Given the description of an element on the screen output the (x, y) to click on. 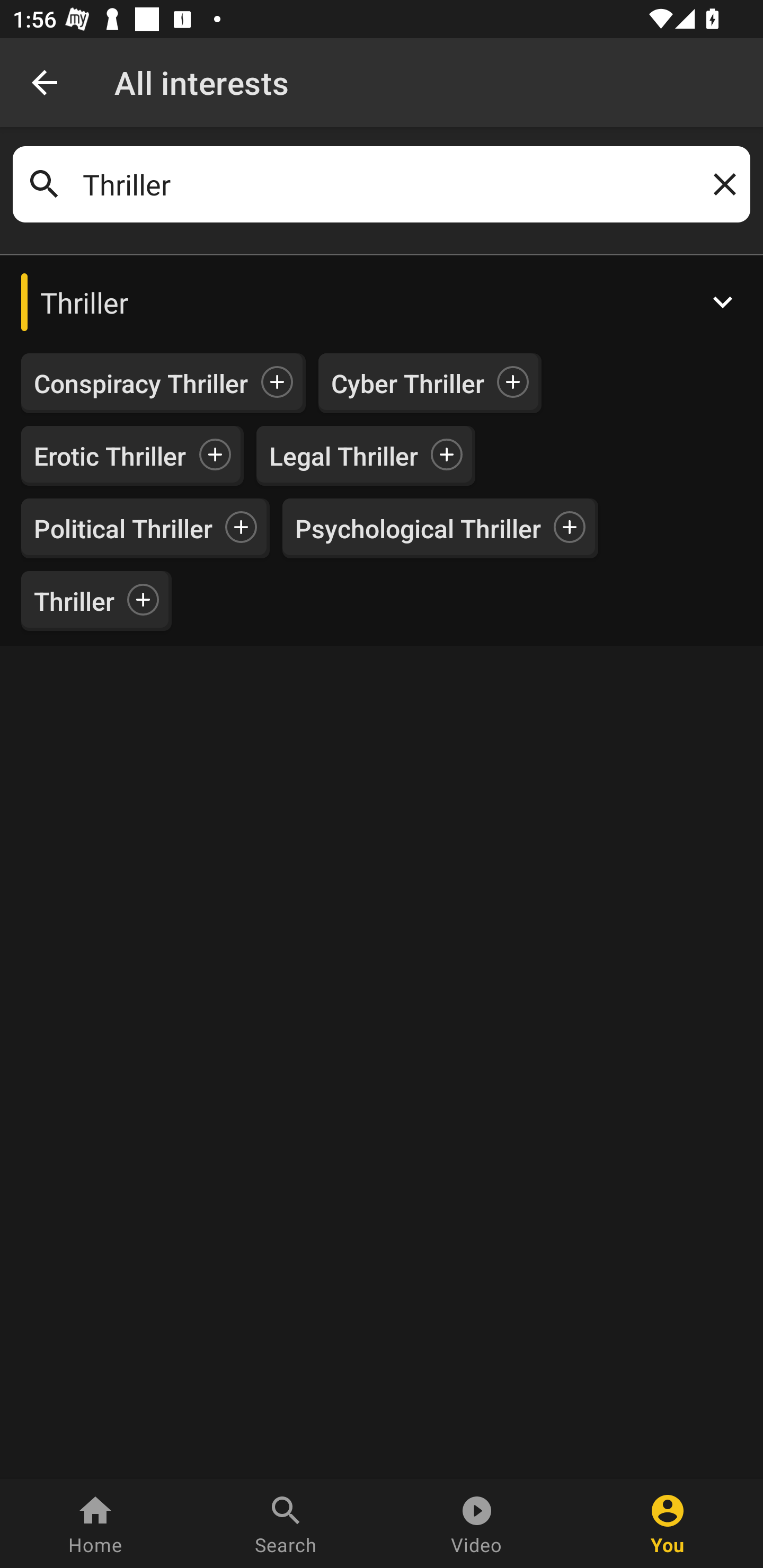
Clear query (721, 183)
Thriller (381, 184)
Thriller (381, 301)
Conspiracy Thriller (140, 382)
Cyber Thriller (407, 382)
Erotic Thriller (110, 456)
Legal Thriller (343, 456)
Political Thriller (123, 528)
Psychological Thriller (417, 528)
Thriller (74, 600)
Home (95, 1523)
Search (285, 1523)
Video (476, 1523)
